Given the description of an element on the screen output the (x, y) to click on. 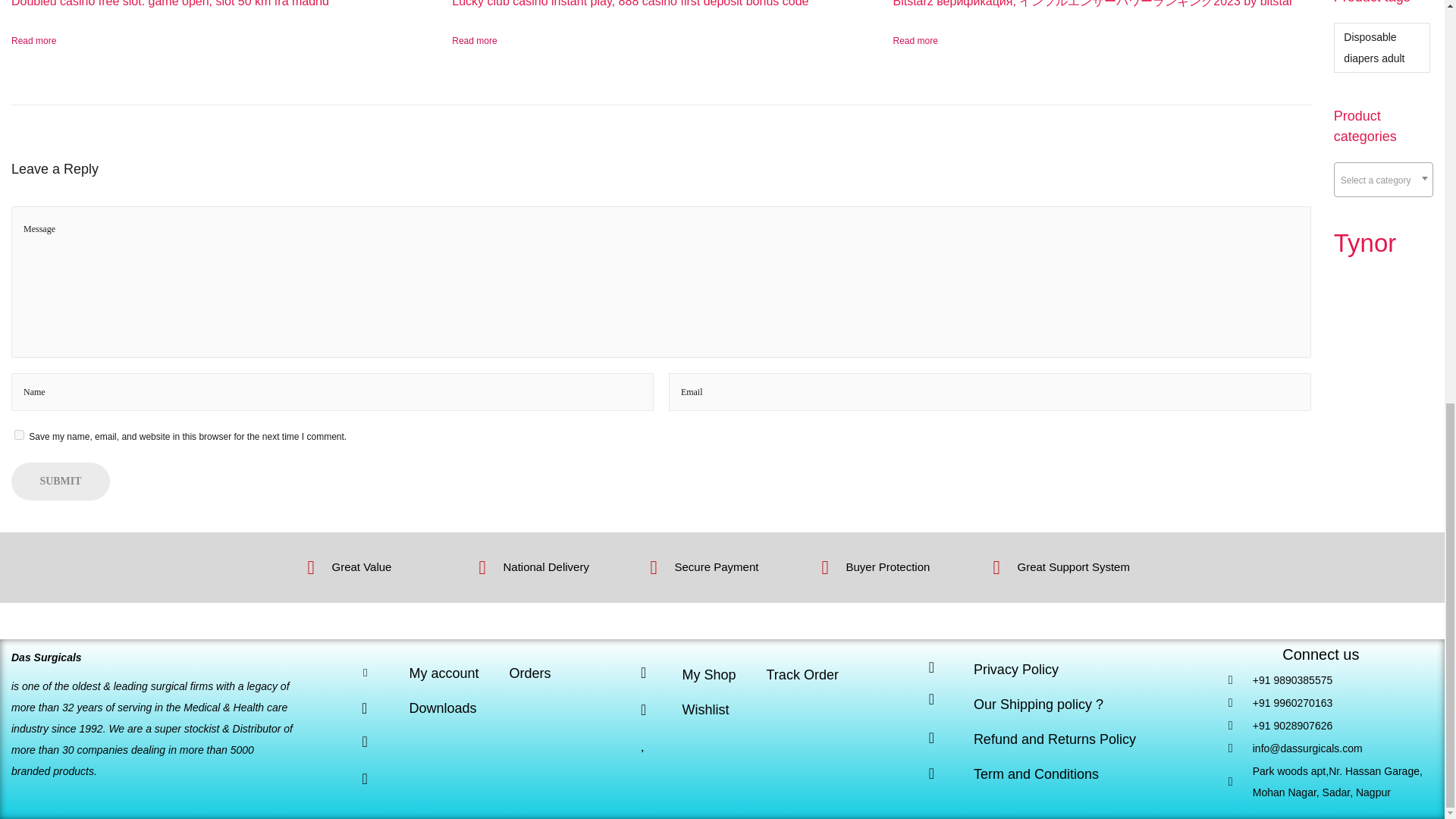
yes (19, 434)
Submit (60, 481)
